Given the description of an element on the screen output the (x, y) to click on. 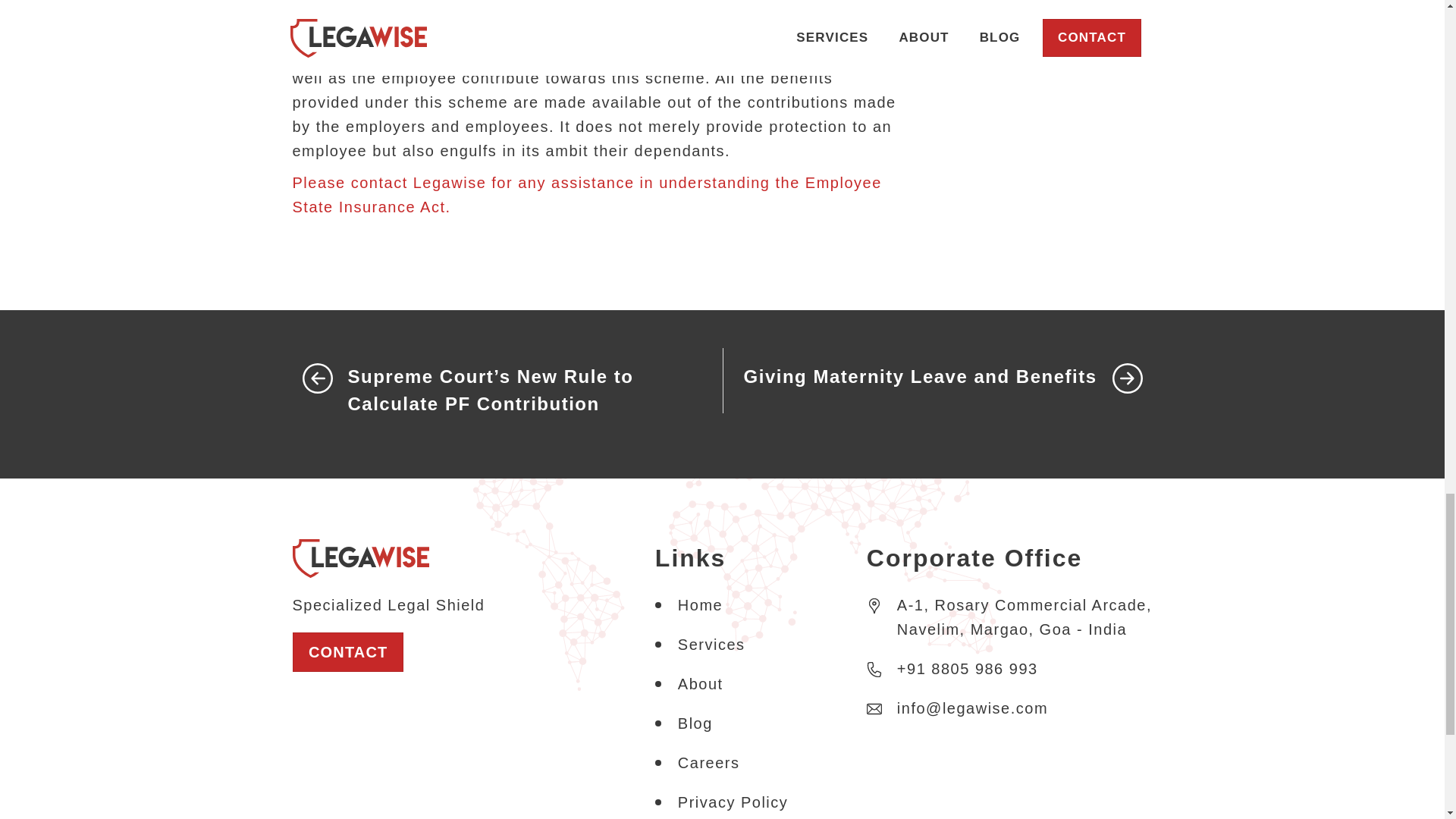
About (700, 683)
Contact (347, 651)
Privacy Policy (732, 801)
LinkedIn (970, 17)
Facebook (939, 17)
Facebook (939, 17)
Services (711, 644)
legawise (360, 556)
Blog (695, 723)
A-1, Rosary Commercial Arcade, Navelim, Margao, Goa - India (1009, 624)
Careers (708, 762)
Twitter (999, 17)
CONTACT (347, 651)
Home (700, 605)
